Given the description of an element on the screen output the (x, y) to click on. 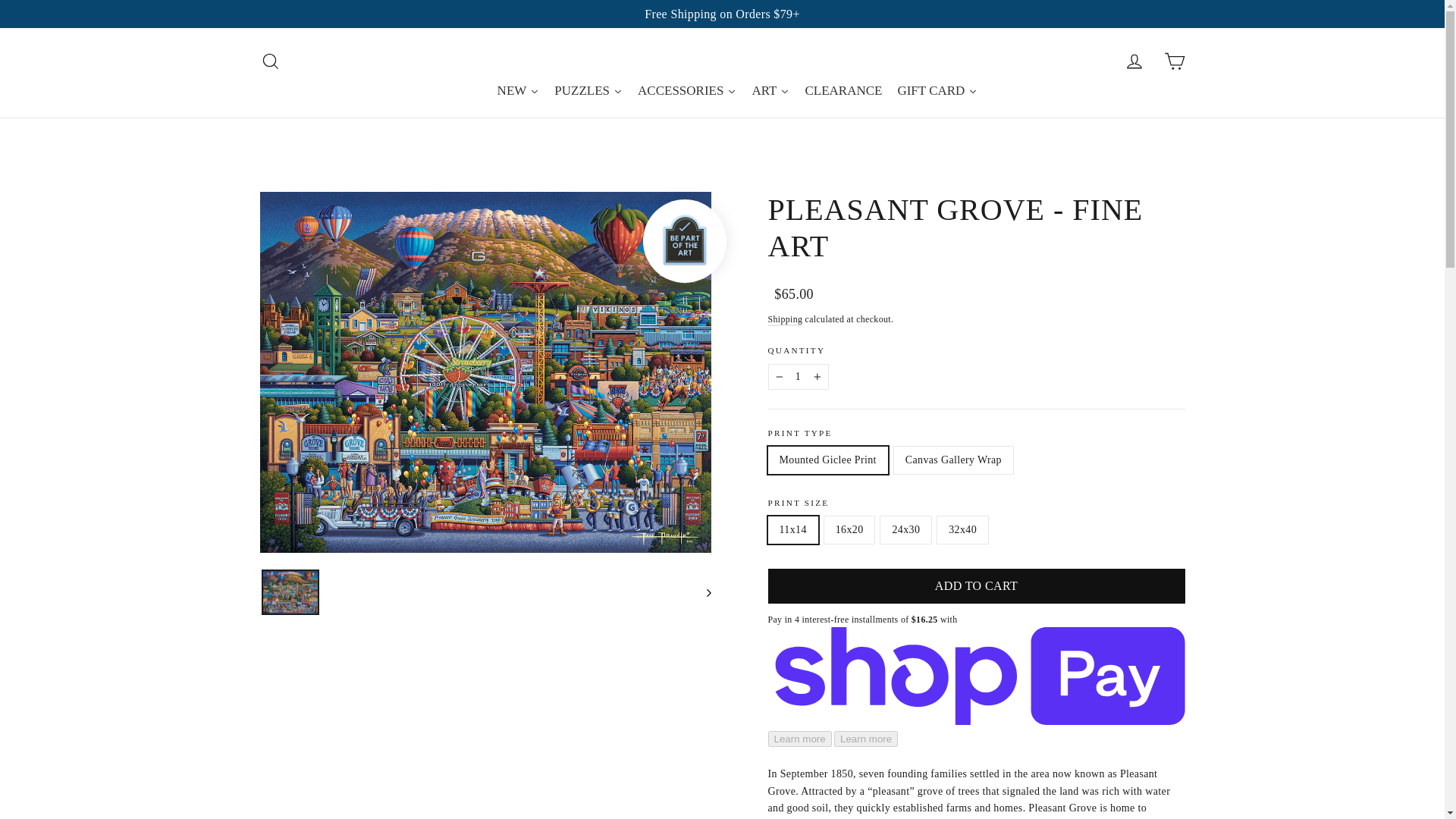
ICON-CART (269, 61)
NEW (1174, 61)
Shipping (518, 90)
ADD TO CART (784, 319)
1 (976, 586)
11x14 (797, 376)
ACCOUNT (518, 90)
PUZZLES (1134, 61)
24x30 (588, 90)
